Given the description of an element on the screen output the (x, y) to click on. 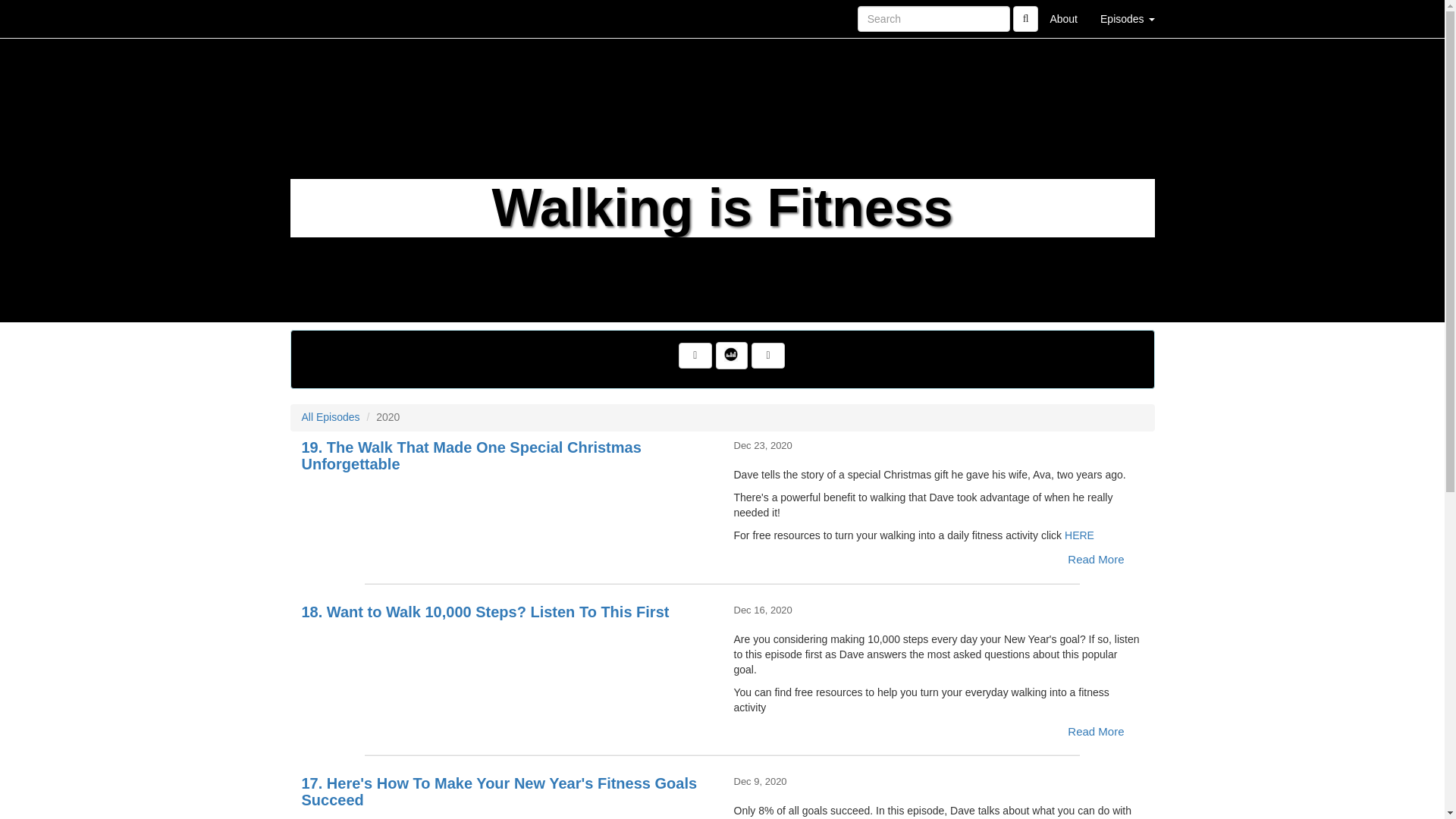
Listen on Deezer (732, 355)
19. The Walk That Made One Special Christmas Unforgettable (506, 509)
Subscribe to RSS Feed (694, 355)
Listen on Spotify (767, 355)
17. Here's How To Make Your New Year's Fitness Goals Succeed (506, 815)
18. Want to Walk 10,000 Steps? Listen To This First (506, 658)
Episodes (1127, 18)
About (1063, 18)
Home Page (320, 18)
